Given the description of an element on the screen output the (x, y) to click on. 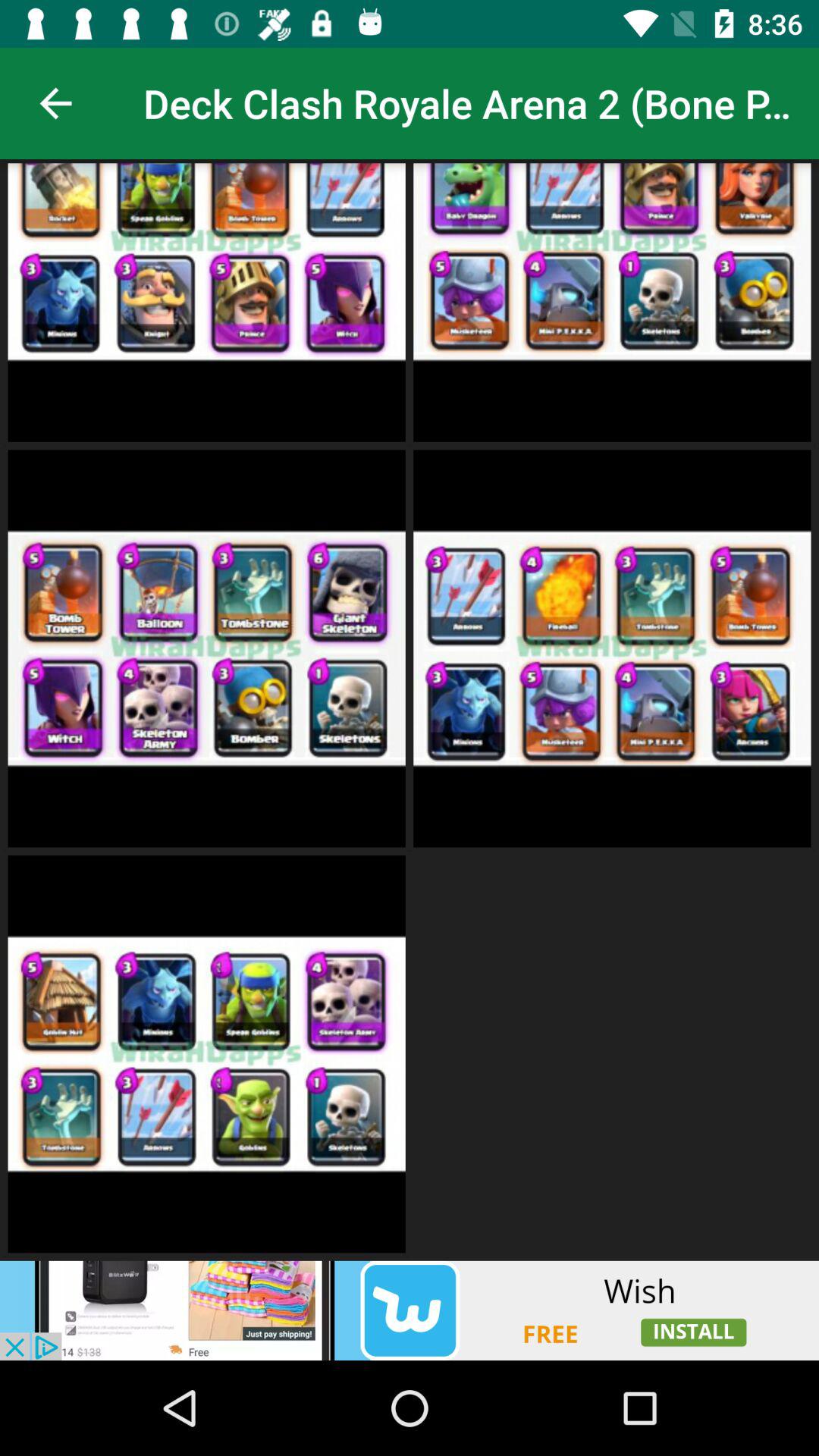
install free wish app (409, 1310)
